Given the description of an element on the screen output the (x, y) to click on. 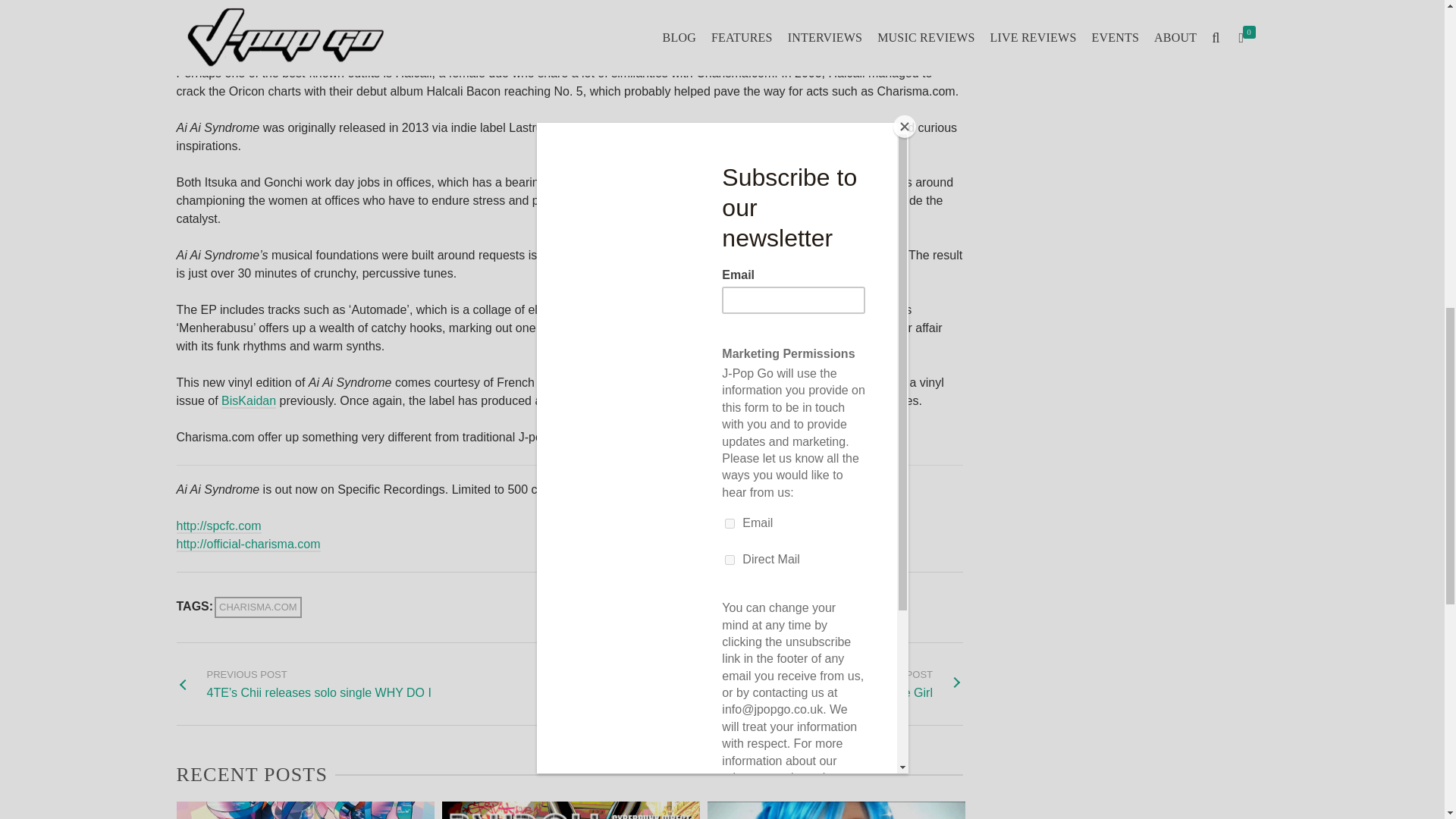
CHARISMA.COM (257, 607)
BisKaidan (248, 400)
